Given the description of an element on the screen output the (x, y) to click on. 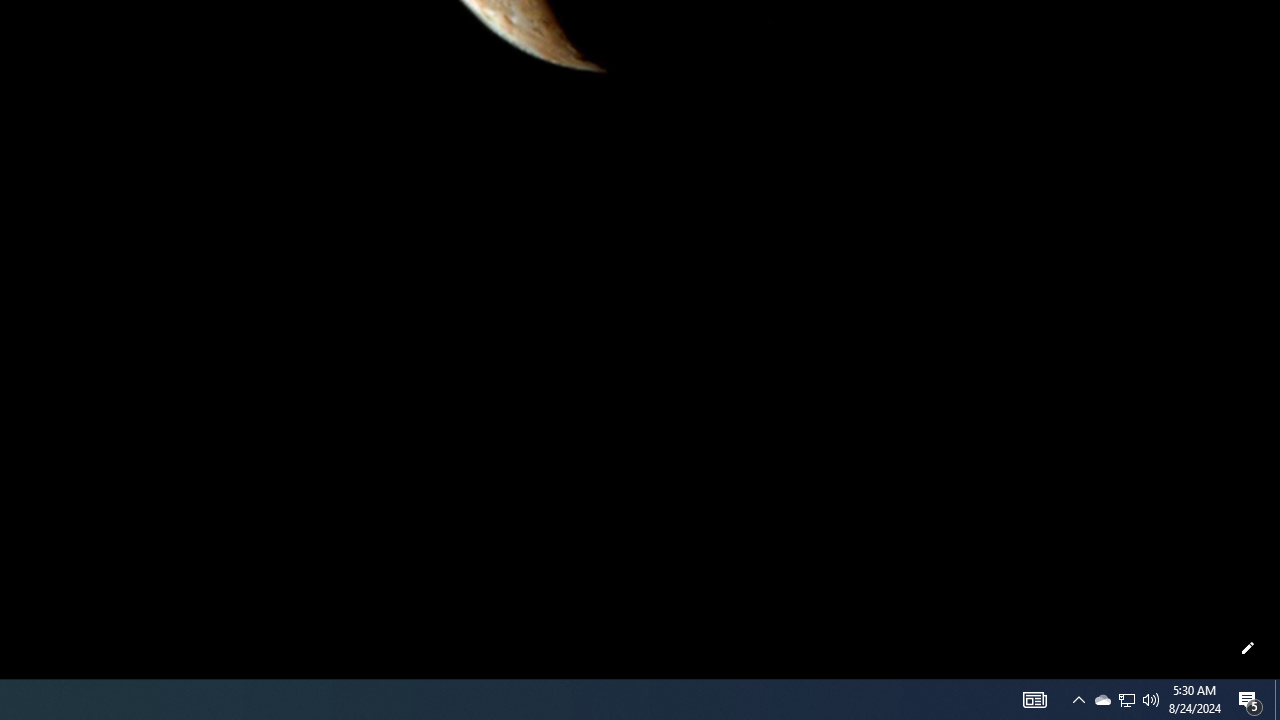
Customize this page (1247, 647)
